Given the description of an element on the screen output the (x, y) to click on. 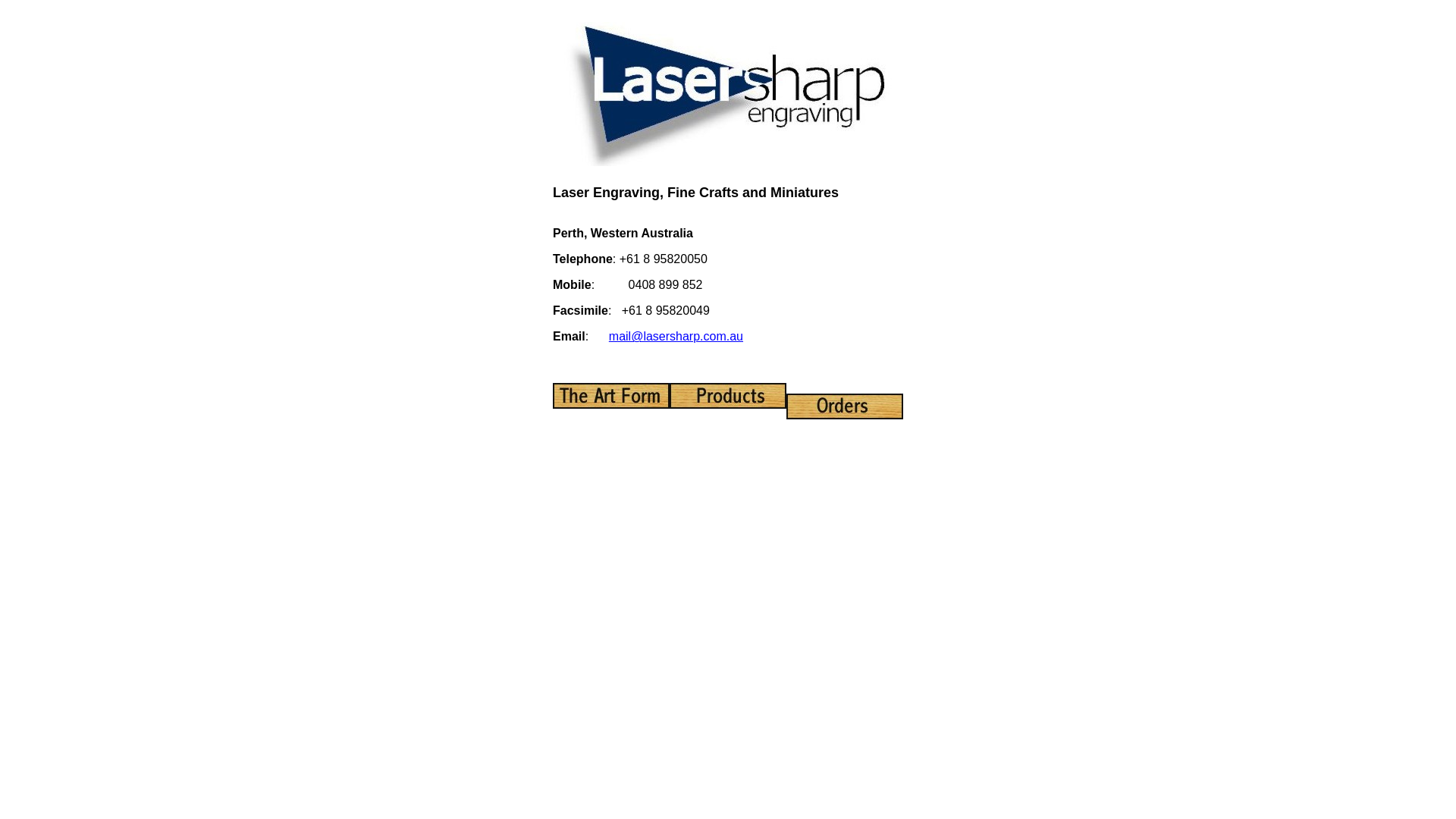
mail@lasersharp.com.au Element type: text (675, 335)
